Given the description of an element on the screen output the (x, y) to click on. 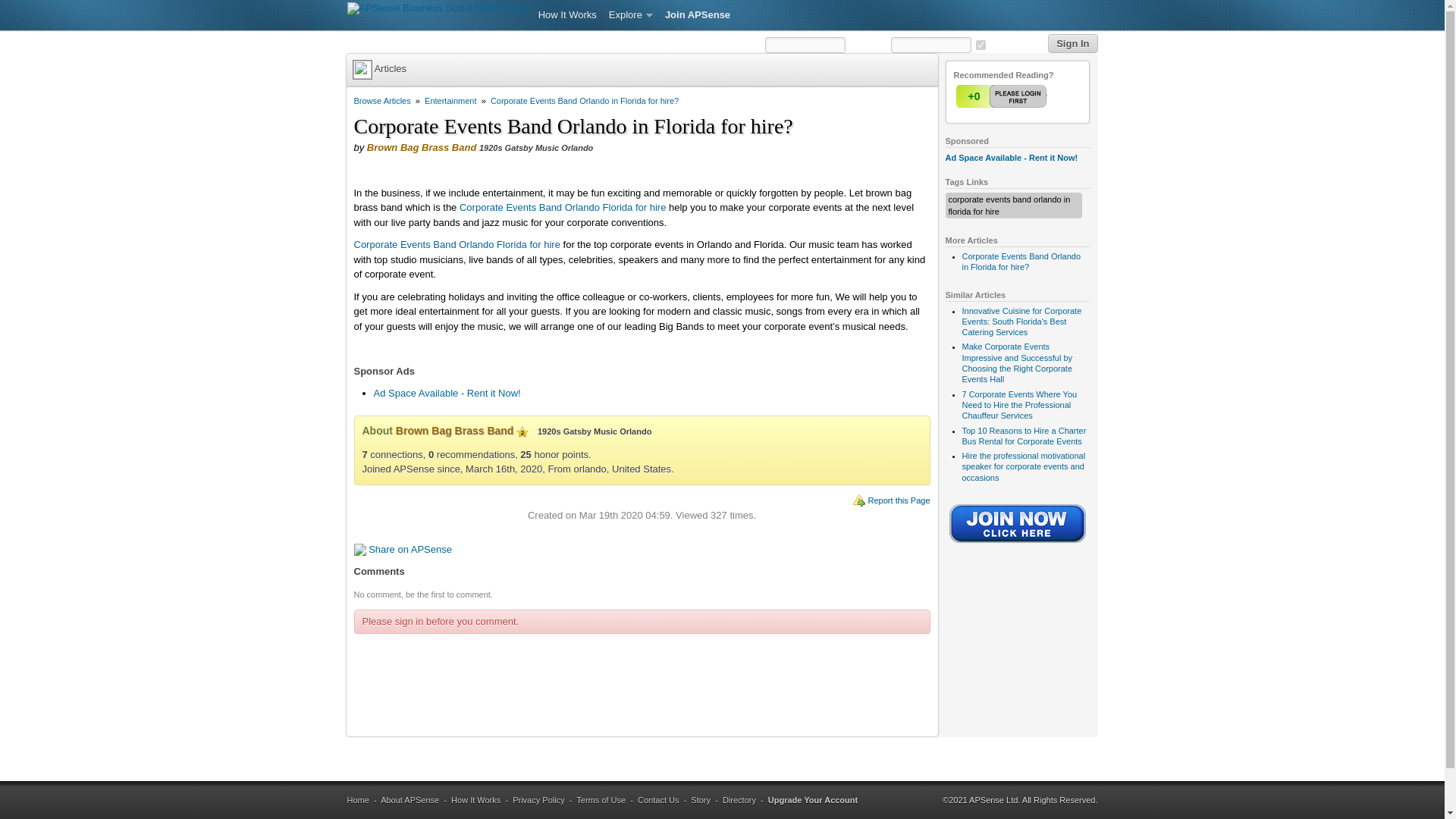
1 (1002, 96)
Join APSense (697, 15)
Corporate Events Band Orlando Florida for hire (562, 206)
Ad Space Available - Rent it Now! (1010, 157)
Brown Bag Brass Band (421, 147)
How It Works (567, 15)
Report this Page (898, 500)
Explore (630, 15)
